Given the description of an element on the screen output the (x, y) to click on. 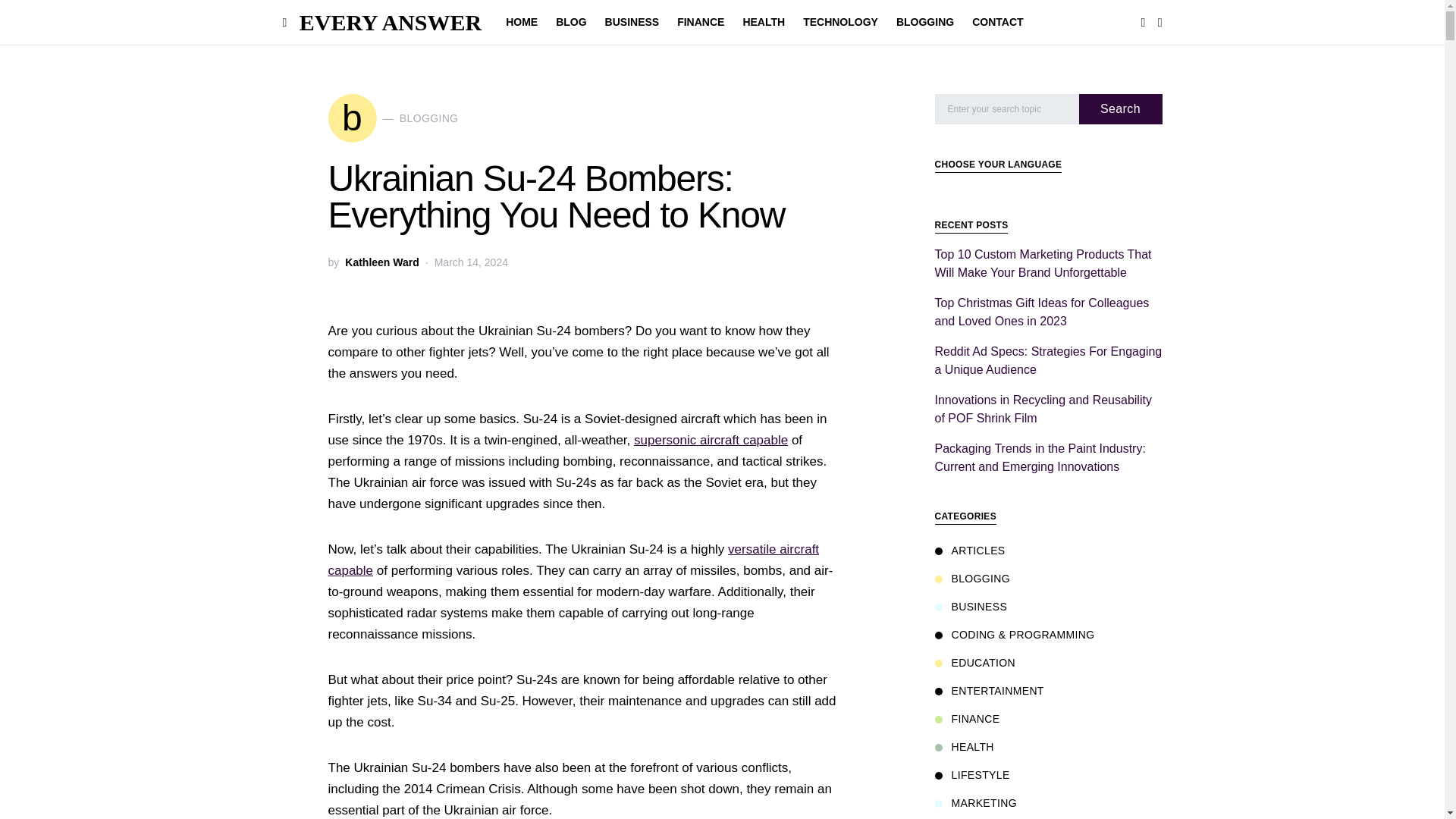
FINANCE (700, 22)
TECHNOLOGY (839, 22)
View all posts by Kathleen Ward (382, 261)
Kathleen Ward (382, 261)
EVERY ANSWER (390, 22)
BLOGGING (924, 22)
BUSINESS (631, 22)
versatile aircraft capable (572, 560)
supersonic aircraft capable (710, 440)
BLOG (392, 118)
HEALTH (571, 22)
CONTACT (763, 22)
HOME (992, 22)
